Given the description of an element on the screen output the (x, y) to click on. 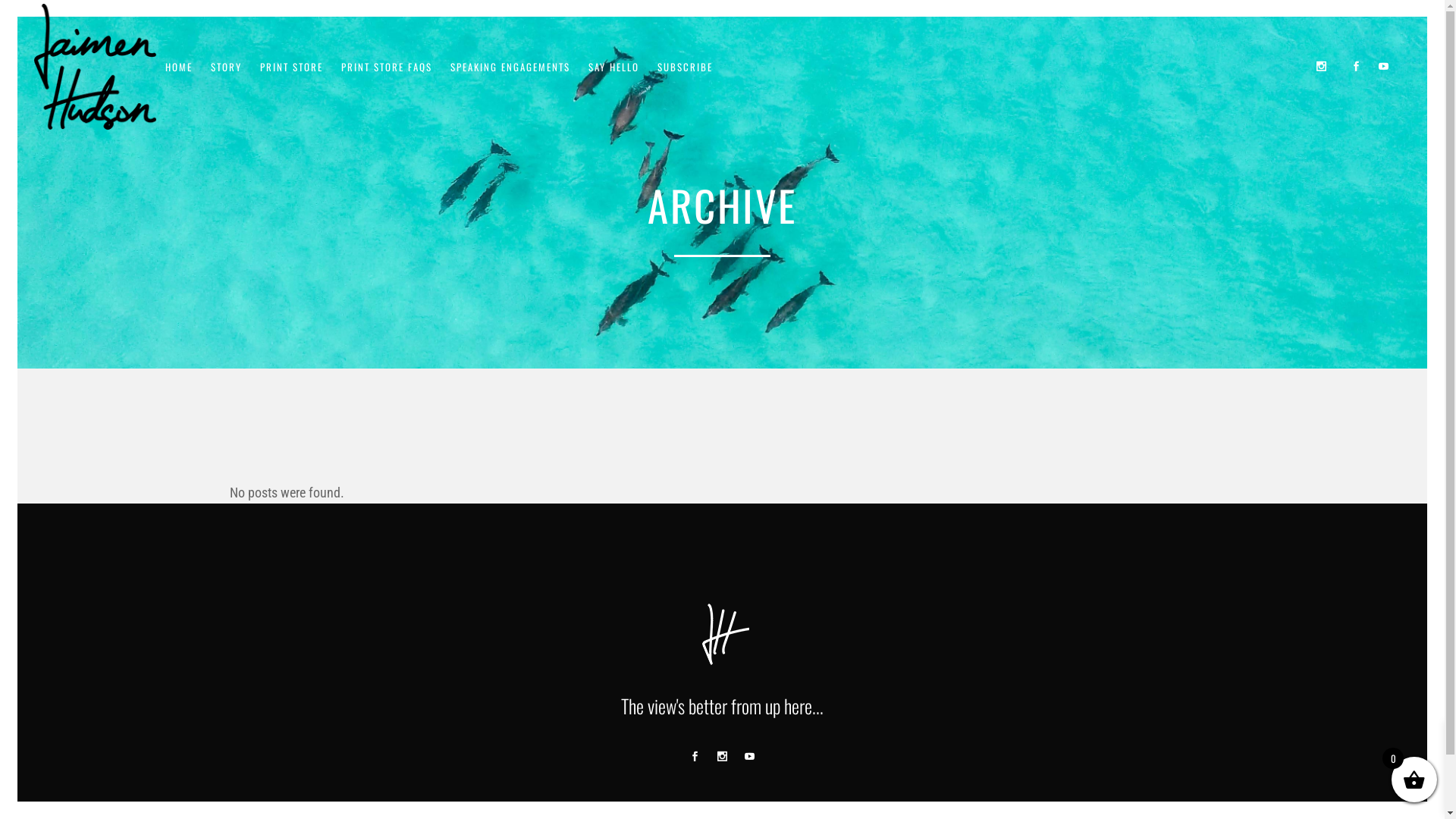
SUBSCRIBE Element type: text (684, 66)
STORY Element type: text (226, 66)
SAY HELLO Element type: text (613, 66)
HOME Element type: text (178, 66)
SPEAKING ENGAGEMENTS Element type: text (510, 66)
PRINT STORE FAQS Element type: text (386, 66)
PRINT STORE Element type: text (291, 66)
